Given the description of an element on the screen output the (x, y) to click on. 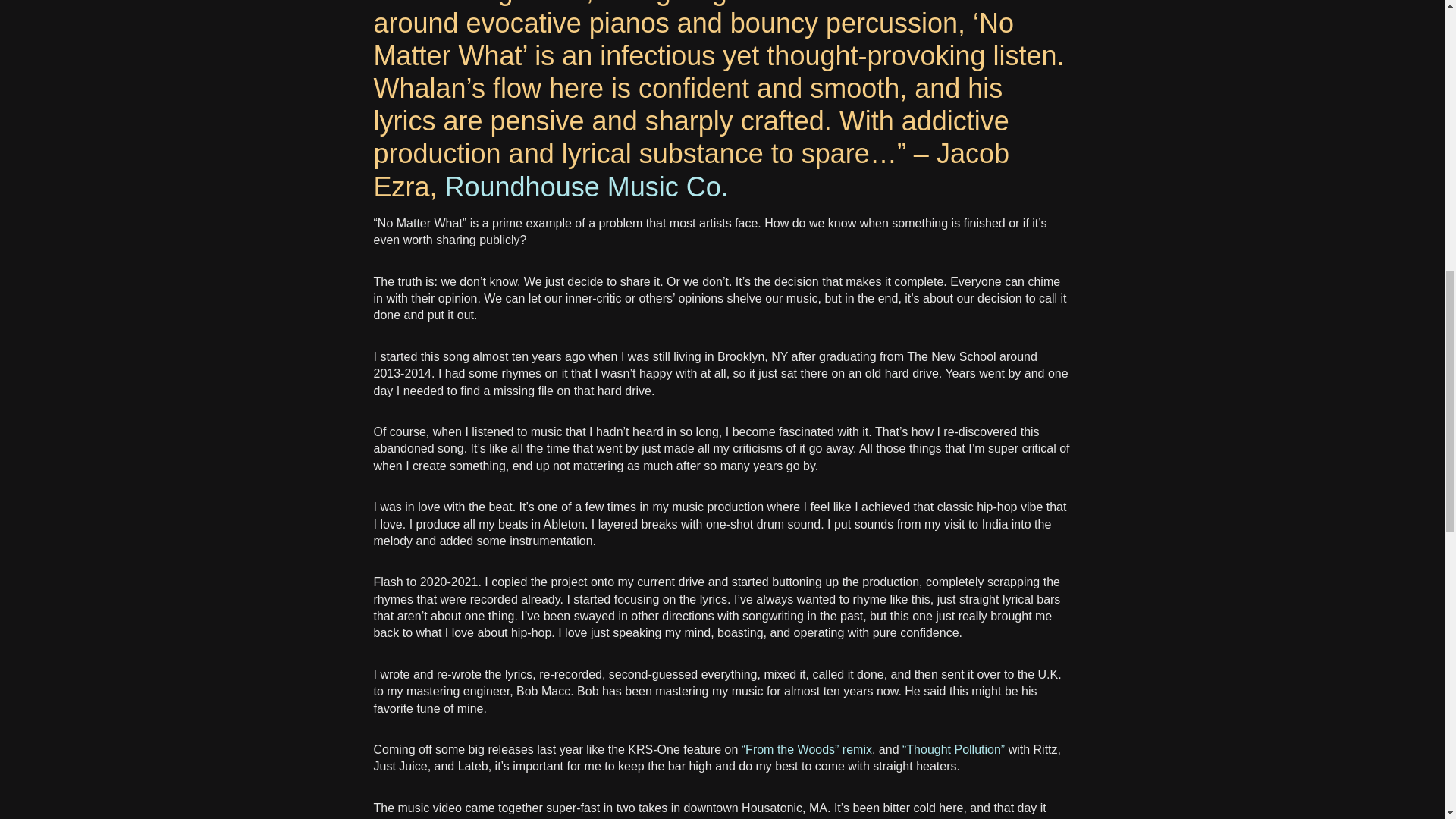
Roundhouse Music Co. (587, 186)
